Given the description of an element on the screen output the (x, y) to click on. 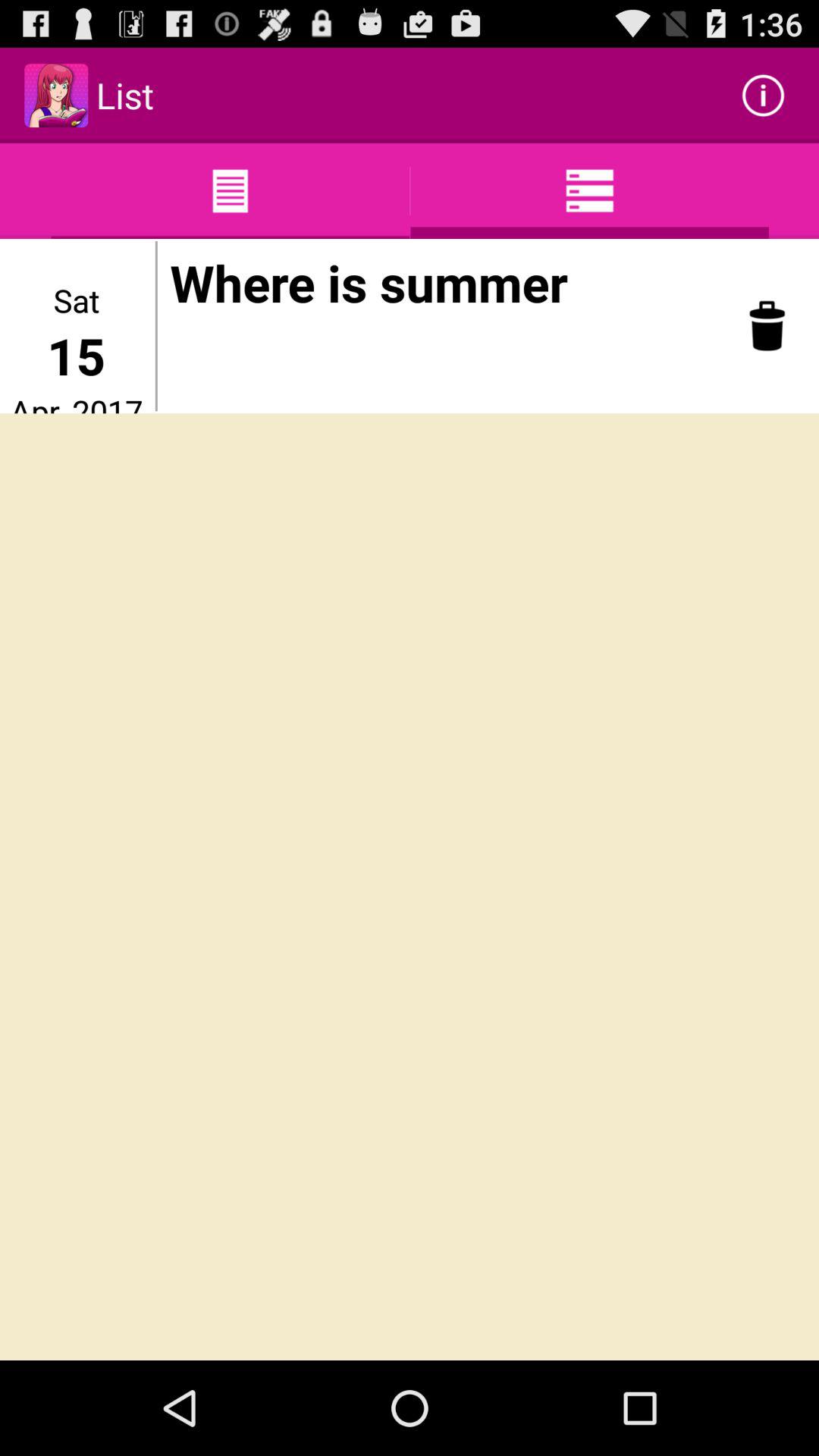
click icon below list icon (156, 326)
